Given the description of an element on the screen output the (x, y) to click on. 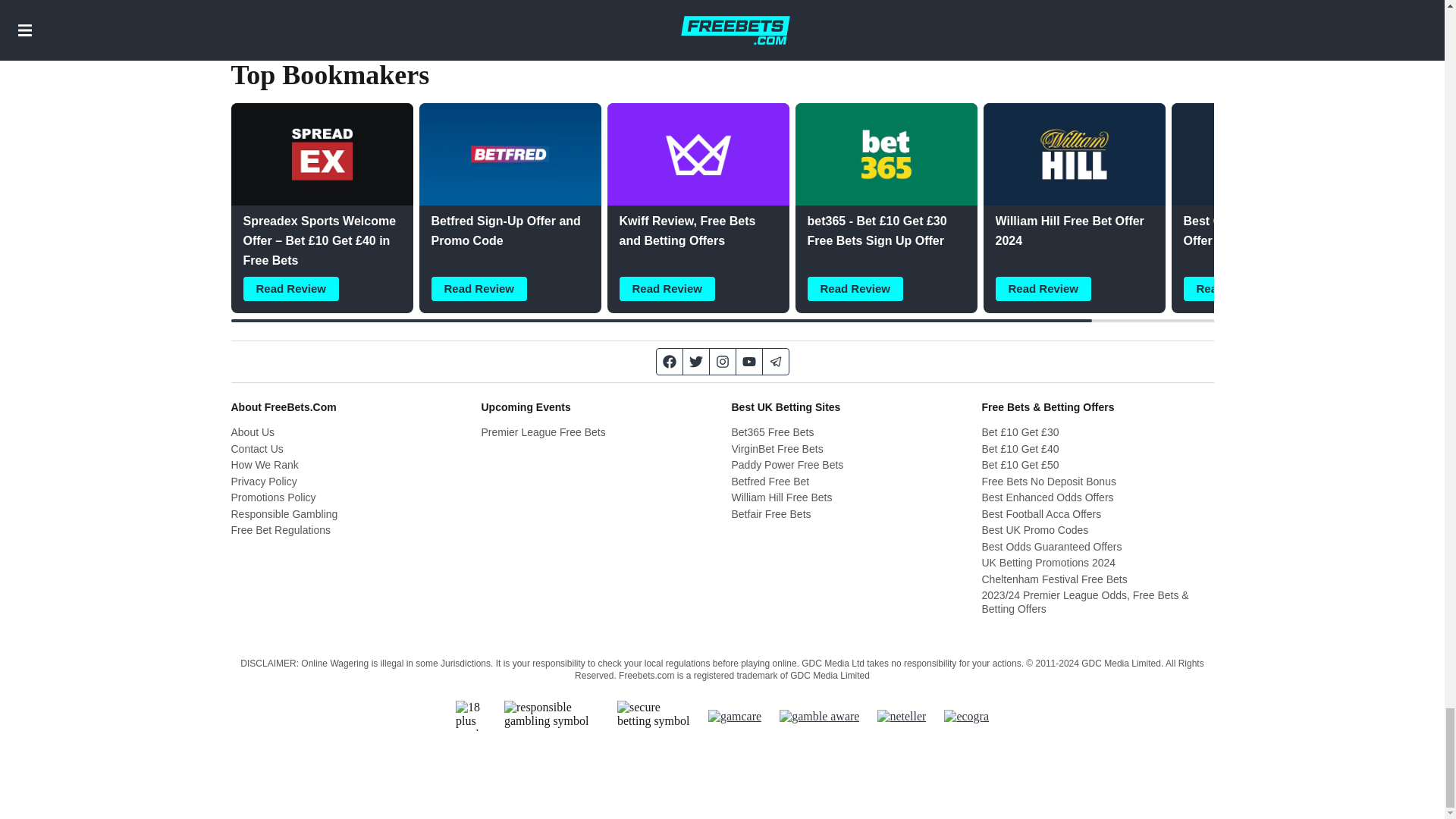
Facebook page (669, 361)
Telegram (775, 361)
Youtube page (748, 361)
Instagram page (723, 361)
Twitter feed (695, 361)
